Given the description of an element on the screen output the (x, y) to click on. 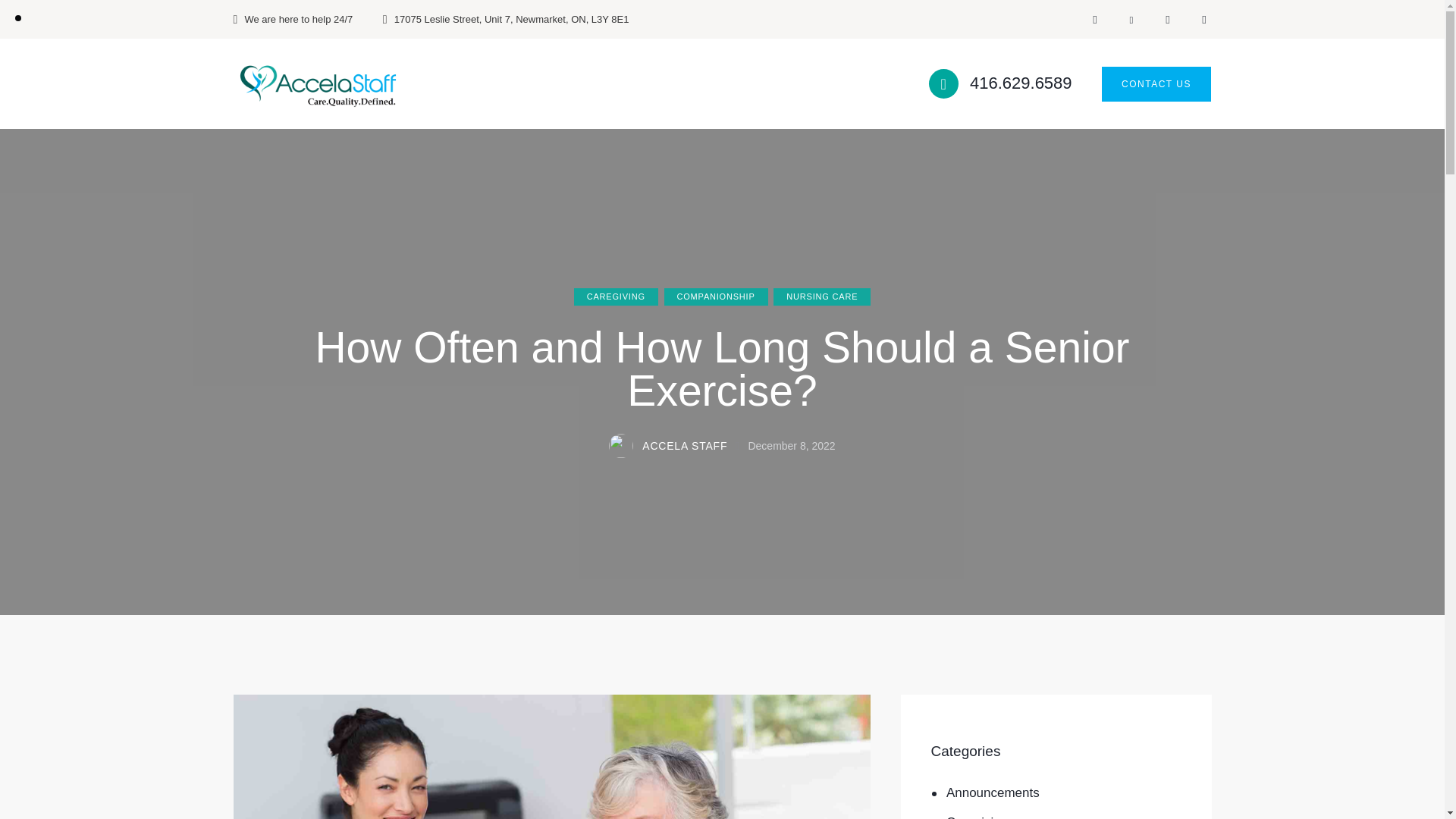
Announcements Element type: text (992, 792)
17075 Leslie Street, Unit 7, Newmarket, ON, L3Y 8E1 Element type: text (505, 19)
416.629.6589 Element type: text (1000, 83)
COMPANIONSHIP Element type: text (716, 297)
ACCELA STAFF Element type: text (676, 447)
CAREGIVING Element type: text (616, 297)
CONTACT US Element type: text (1156, 83)
NURSING CARE Element type: text (821, 297)
